Given the description of an element on the screen output the (x, y) to click on. 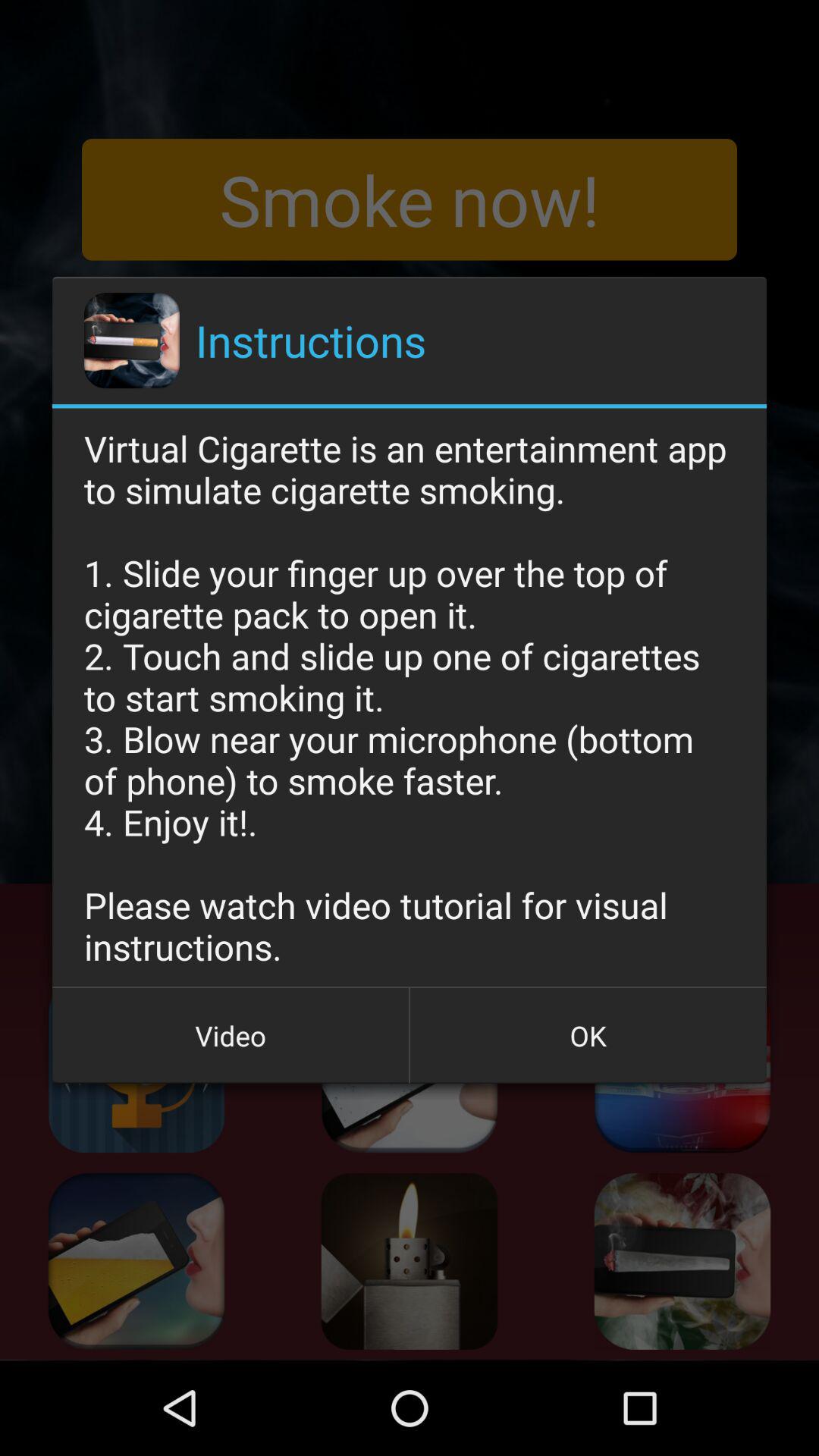
turn on the button next to video icon (588, 1035)
